Given the description of an element on the screen output the (x, y) to click on. 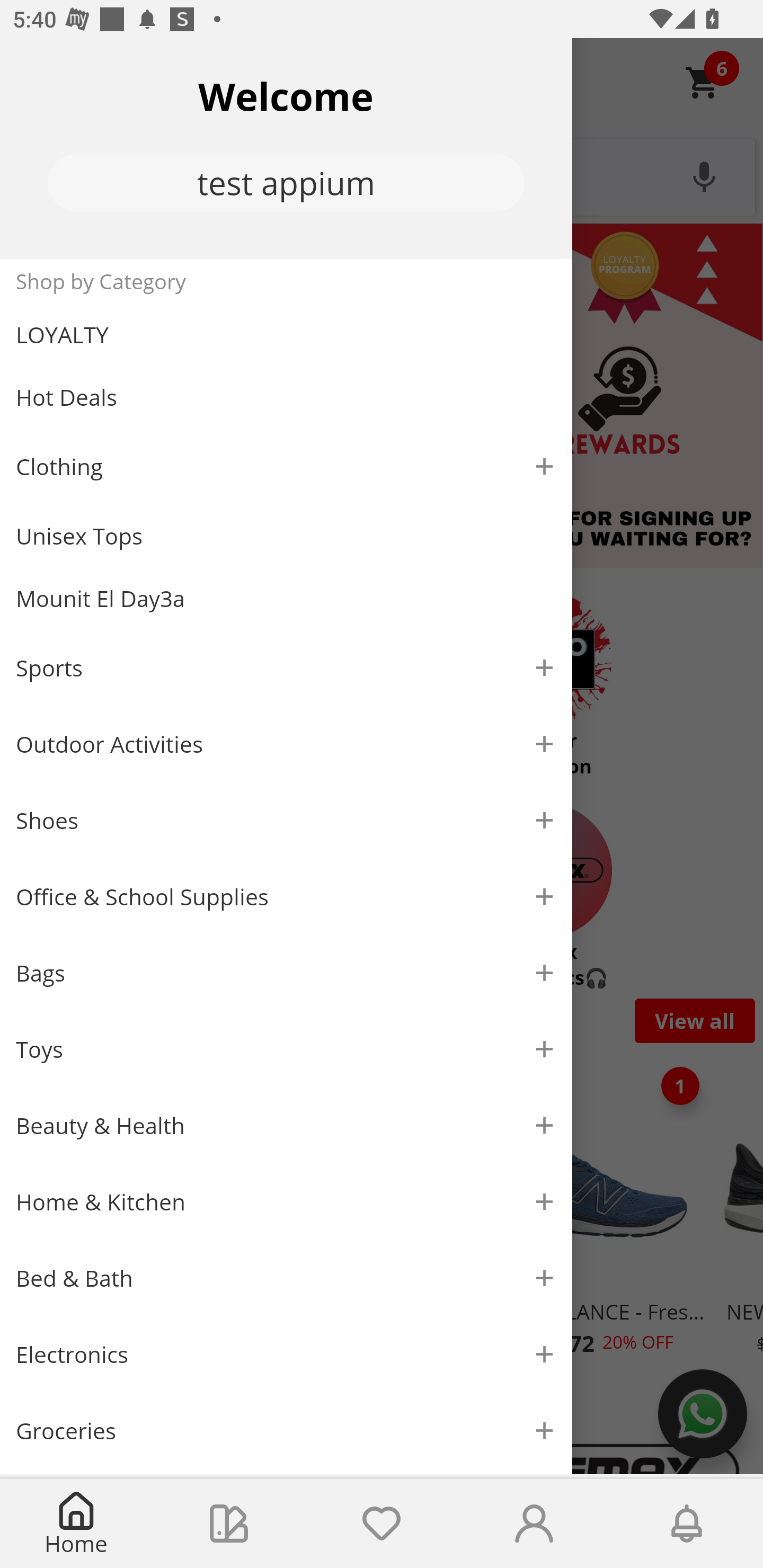
Welcome test appium (286, 147)
What are you looking for? (381, 175)
LOYALTY (286, 334)
Hot Deals (286, 396)
Clothing (286, 466)
Unisex Tops (286, 535)
Mounit El Day3a (286, 598)
Sports (286, 667)
Outdoor Activities (286, 743)
Shoes (286, 820)
Office & School Supplies (286, 896)
Bags (286, 972)
Toys (286, 1049)
Beauty & Health (286, 1125)
Home & Kitchen (286, 1201)
Bed & Bath (286, 1278)
Electronics (286, 1354)
Groceries (286, 1430)
Collections (228, 1523)
Wishlist (381, 1523)
Account (533, 1523)
Notifications (686, 1523)
